Given the description of an element on the screen output the (x, y) to click on. 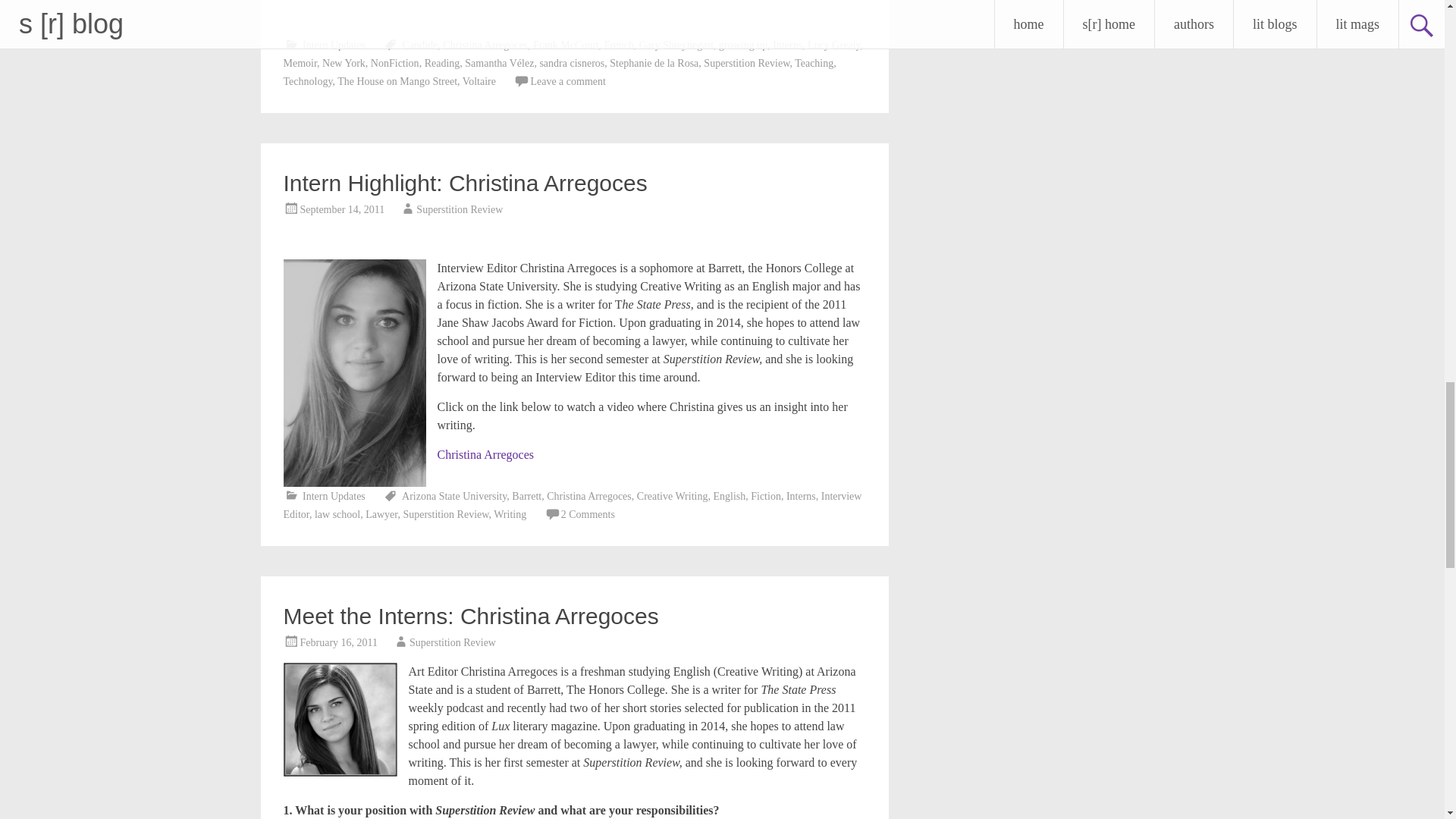
christinaarregoces (340, 719)
Christina Arregoces (484, 44)
Intern Updates (333, 44)
Candide (420, 44)
